Given the description of an element on the screen output the (x, y) to click on. 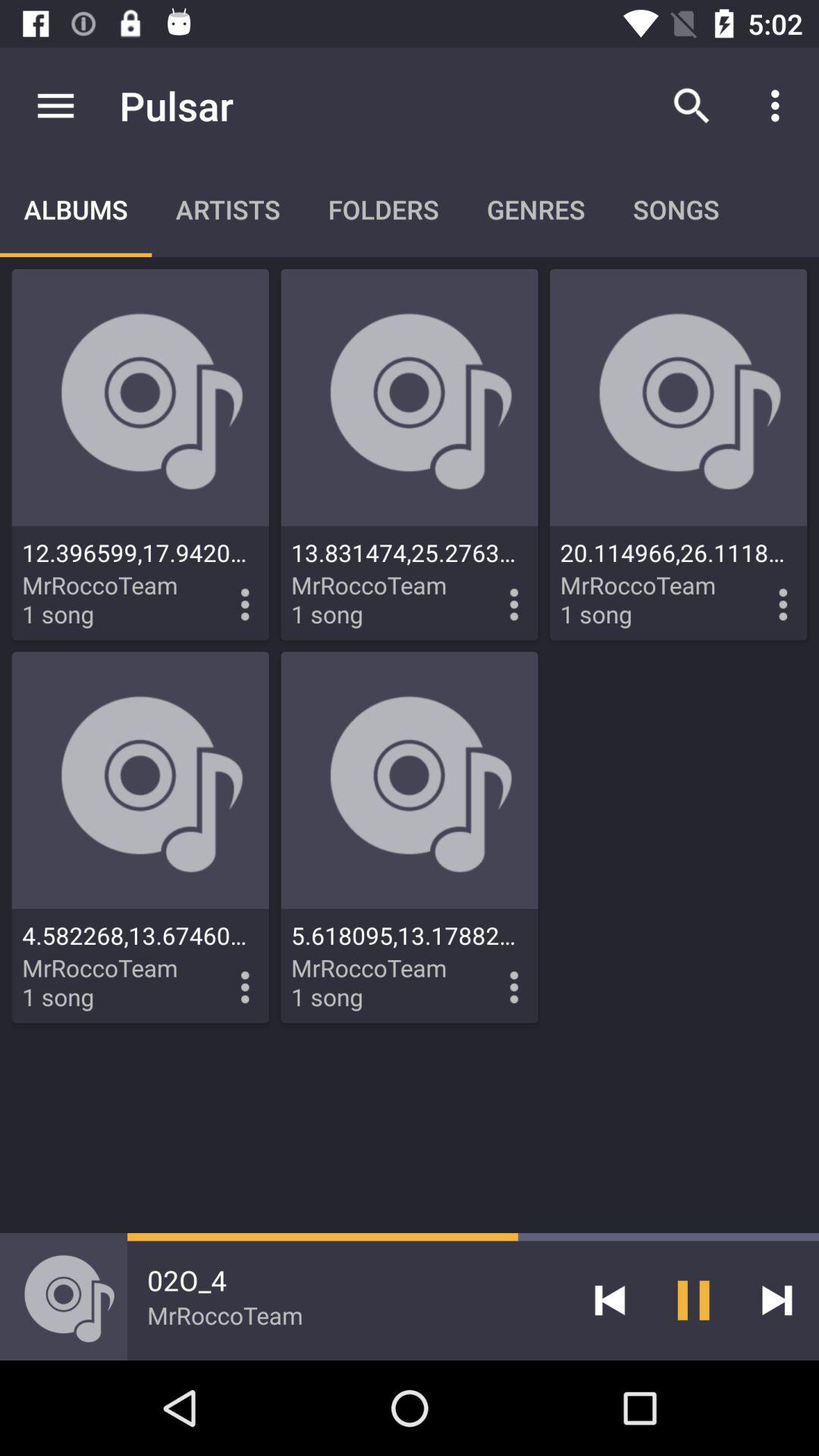
select item to the right of pulsar app (691, 105)
